Given the description of an element on the screen output the (x, y) to click on. 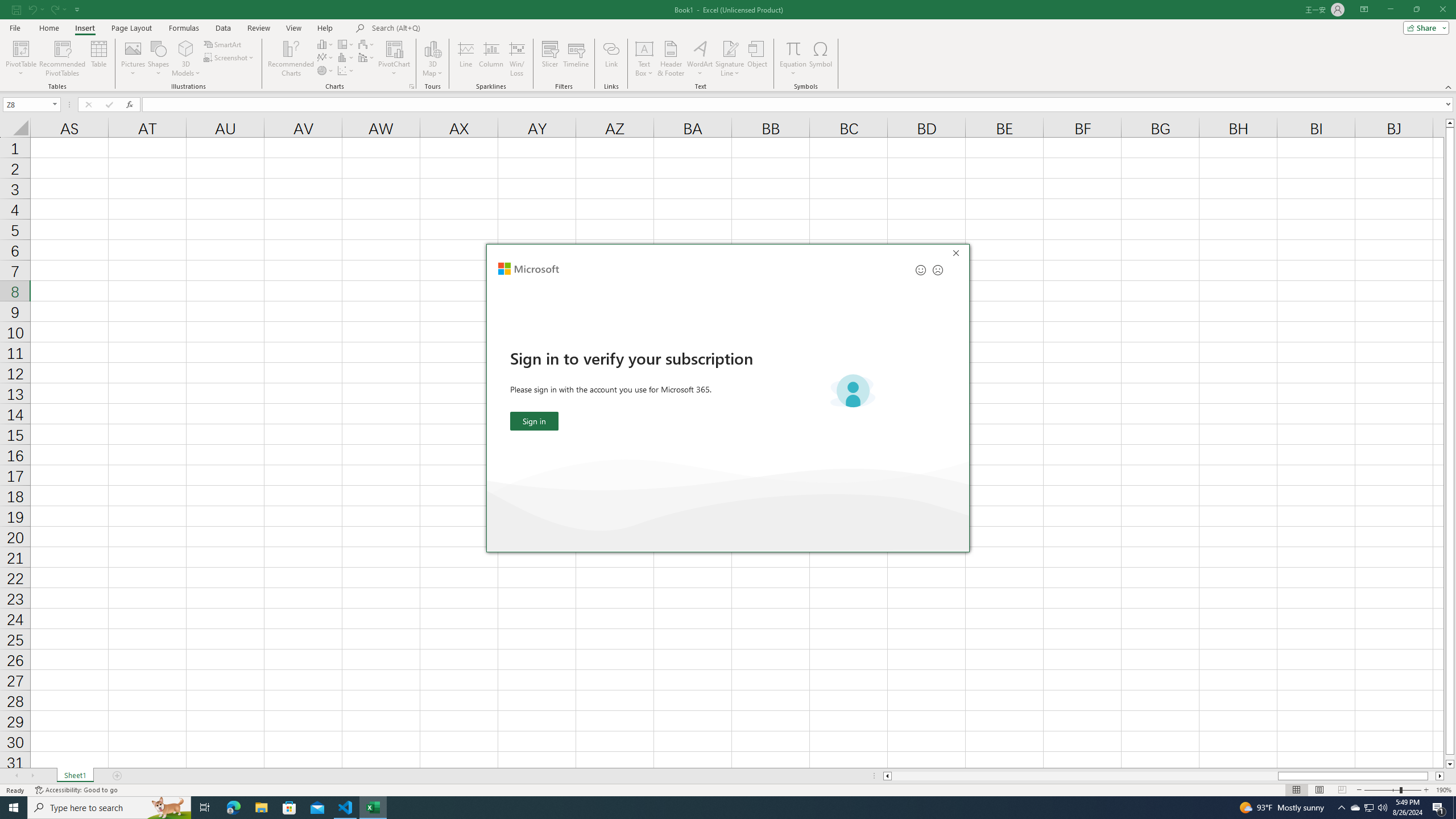
Open (54, 104)
Collapse the Ribbon (1448, 86)
Quick Access Toolbar (46, 9)
Insert Hierarchy Chart (346, 44)
Draw Horizontal Text Box (643, 48)
Equation (793, 48)
Recommended PivotTables (62, 58)
Visual Studio Code - 1 running window (345, 807)
File Tab (15, 27)
Microsoft Edge (233, 807)
Task View (204, 807)
